Given the description of an element on the screen output the (x, y) to click on. 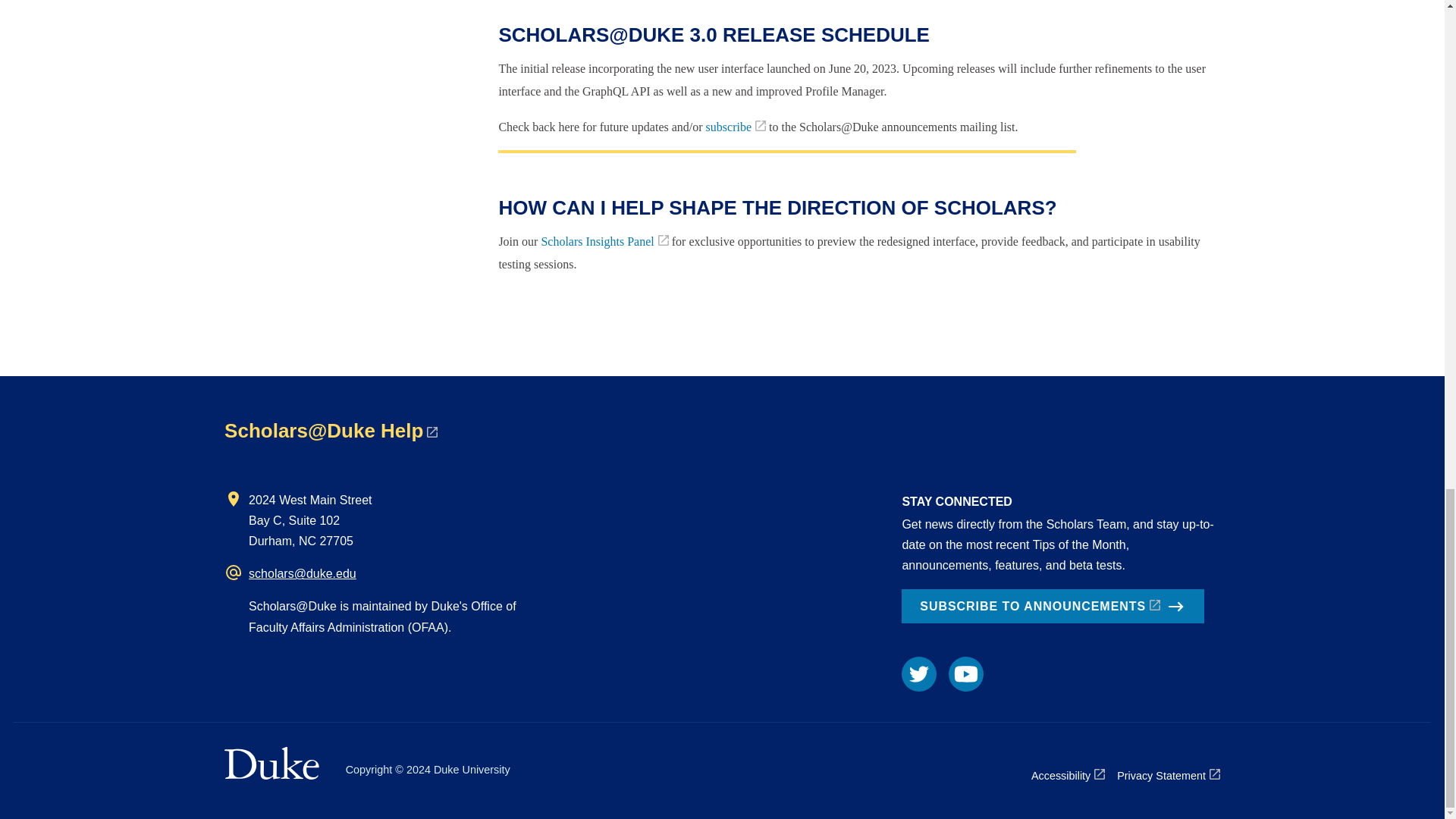
Twitter link (918, 673)
Accessibility (1067, 775)
subscribe (735, 126)
SUBSCRIBE TO ANNOUNCEMENTS (1052, 606)
Privacy Statement (1168, 775)
YouTube link (966, 673)
Scholars Insights Panel (604, 241)
